Given the description of an element on the screen output the (x, y) to click on. 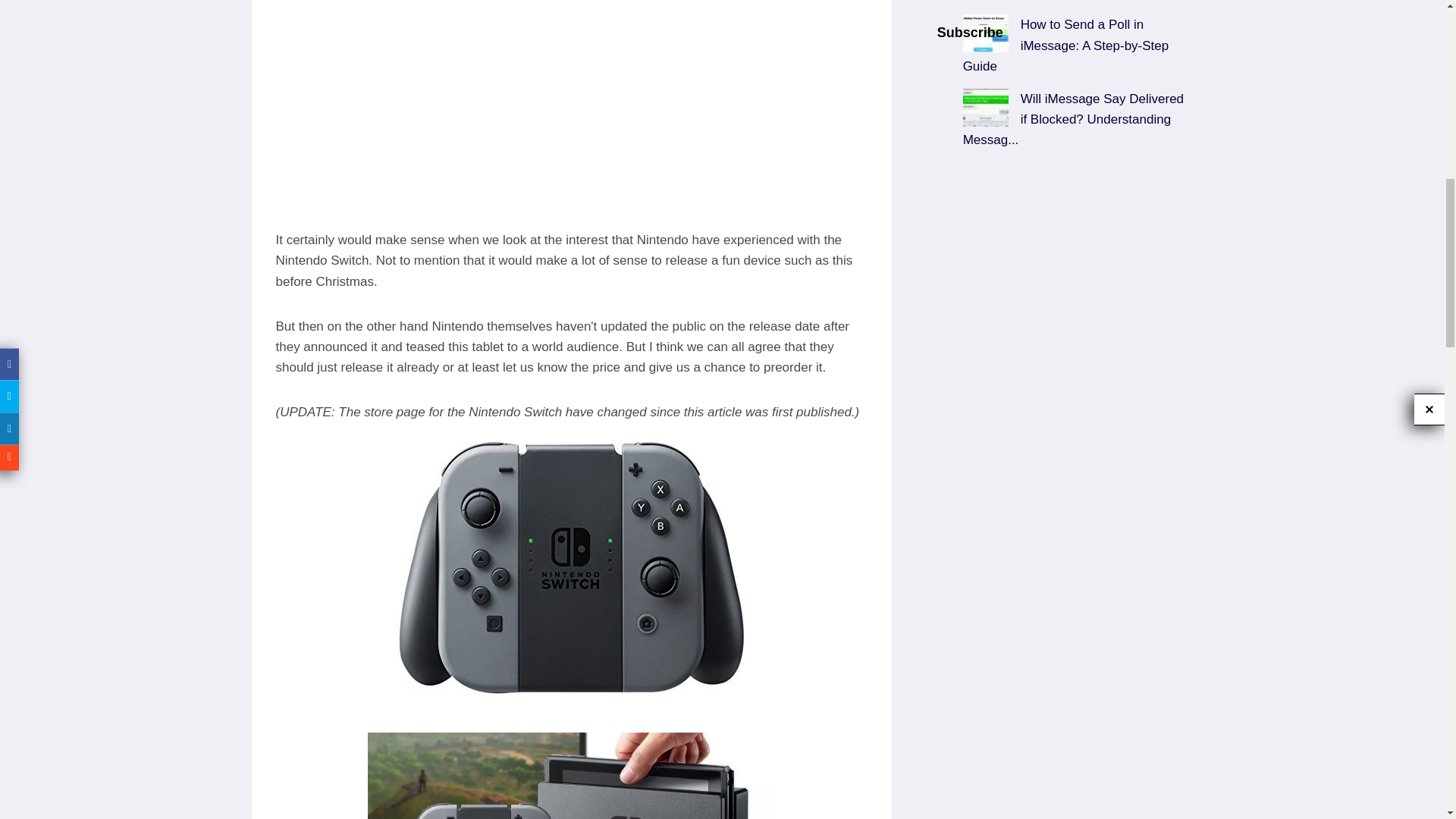
Advertisement (571, 123)
Advertisement (1065, 298)
